Given the description of an element on the screen output the (x, y) to click on. 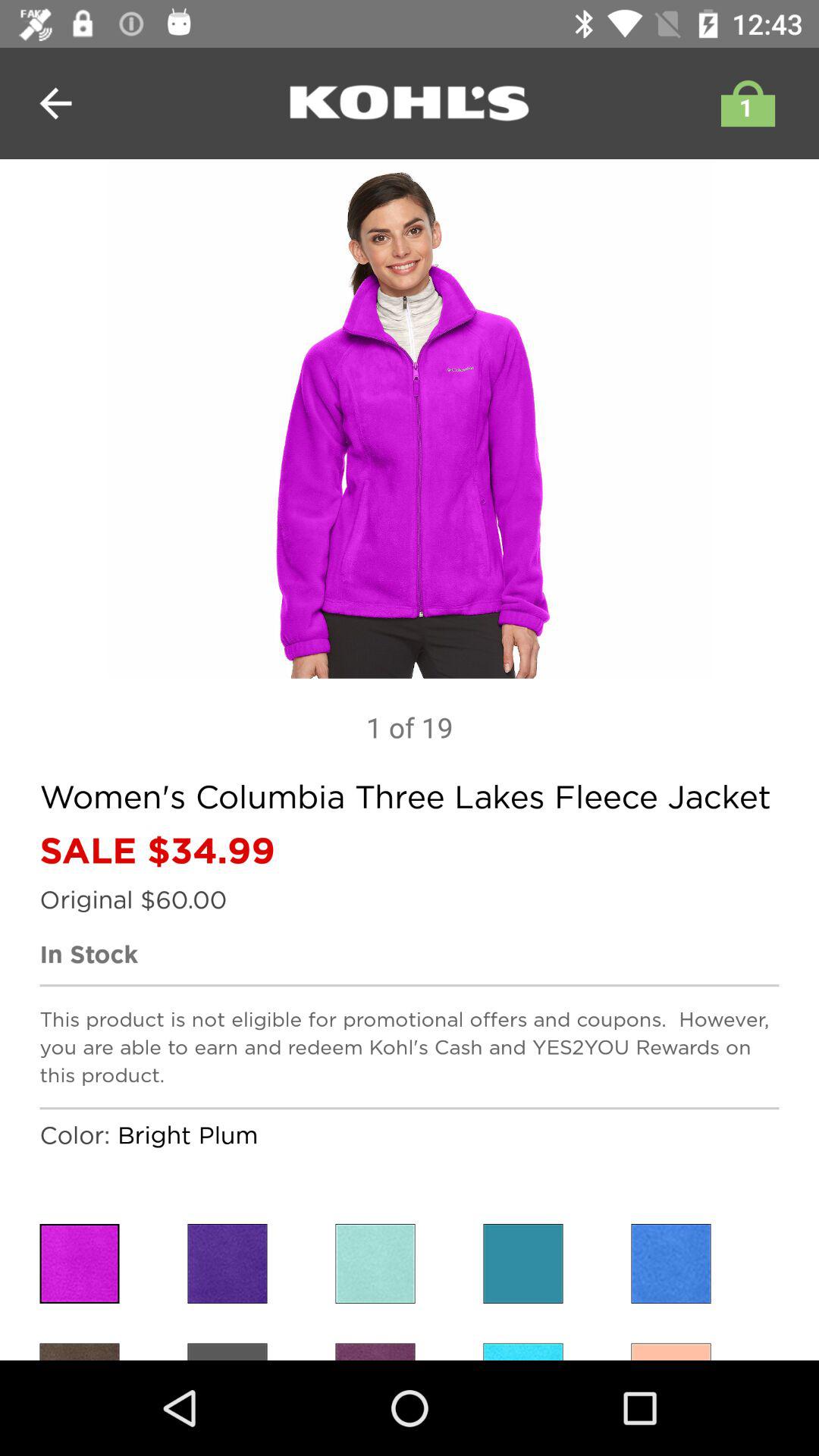
selection for a different color jacket (375, 1351)
